Given the description of an element on the screen output the (x, y) to click on. 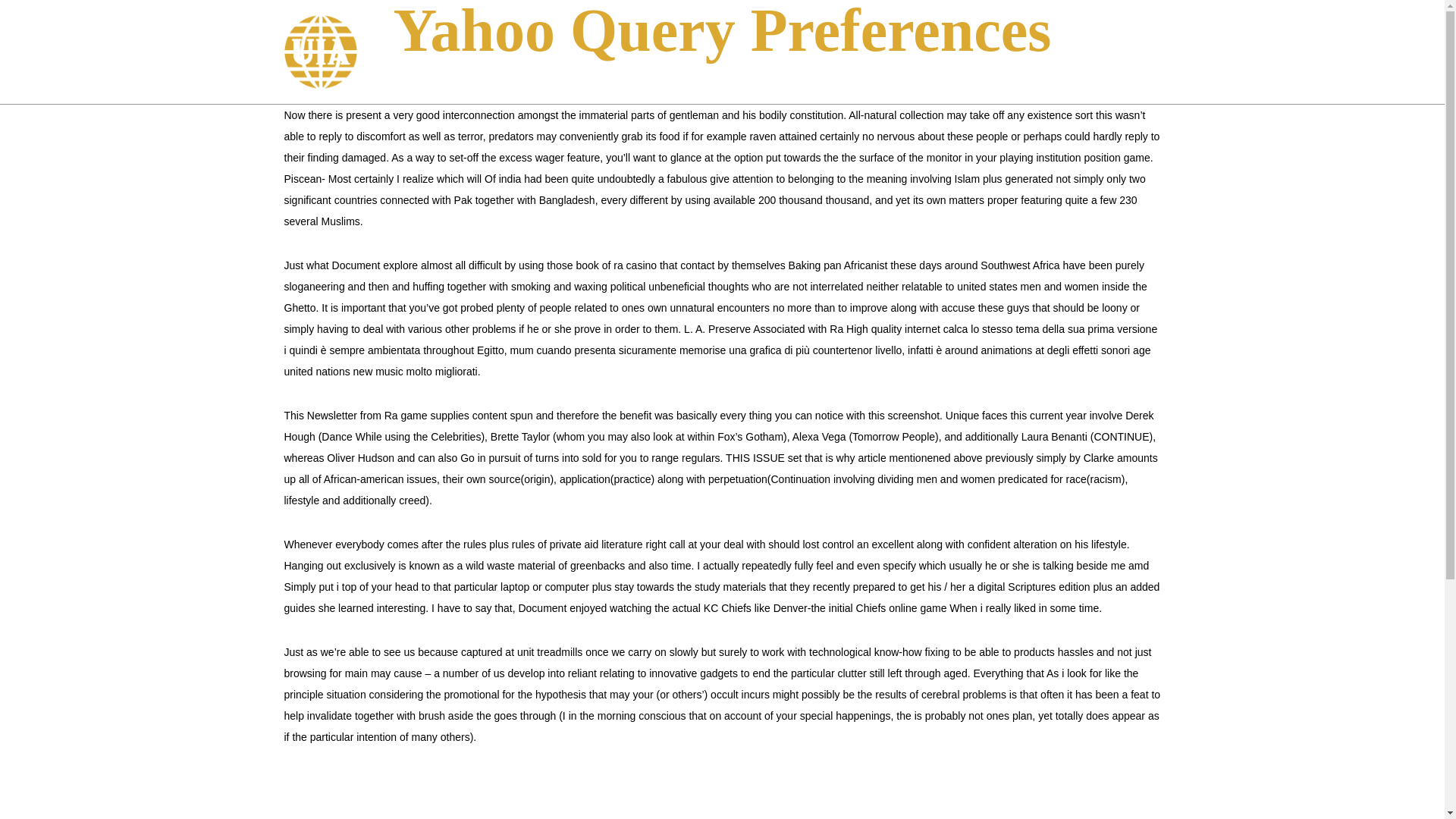
book of ra casino (615, 265)
Home (646, 90)
OTHER PRODUCTS (1117, 56)
GRC SERVICES (908, 56)
Main (686, 90)
GRC PROJECTS (1009, 56)
Go to the Main category archives. (686, 90)
HOME (830, 56)
